Given the description of an element on the screen output the (x, y) to click on. 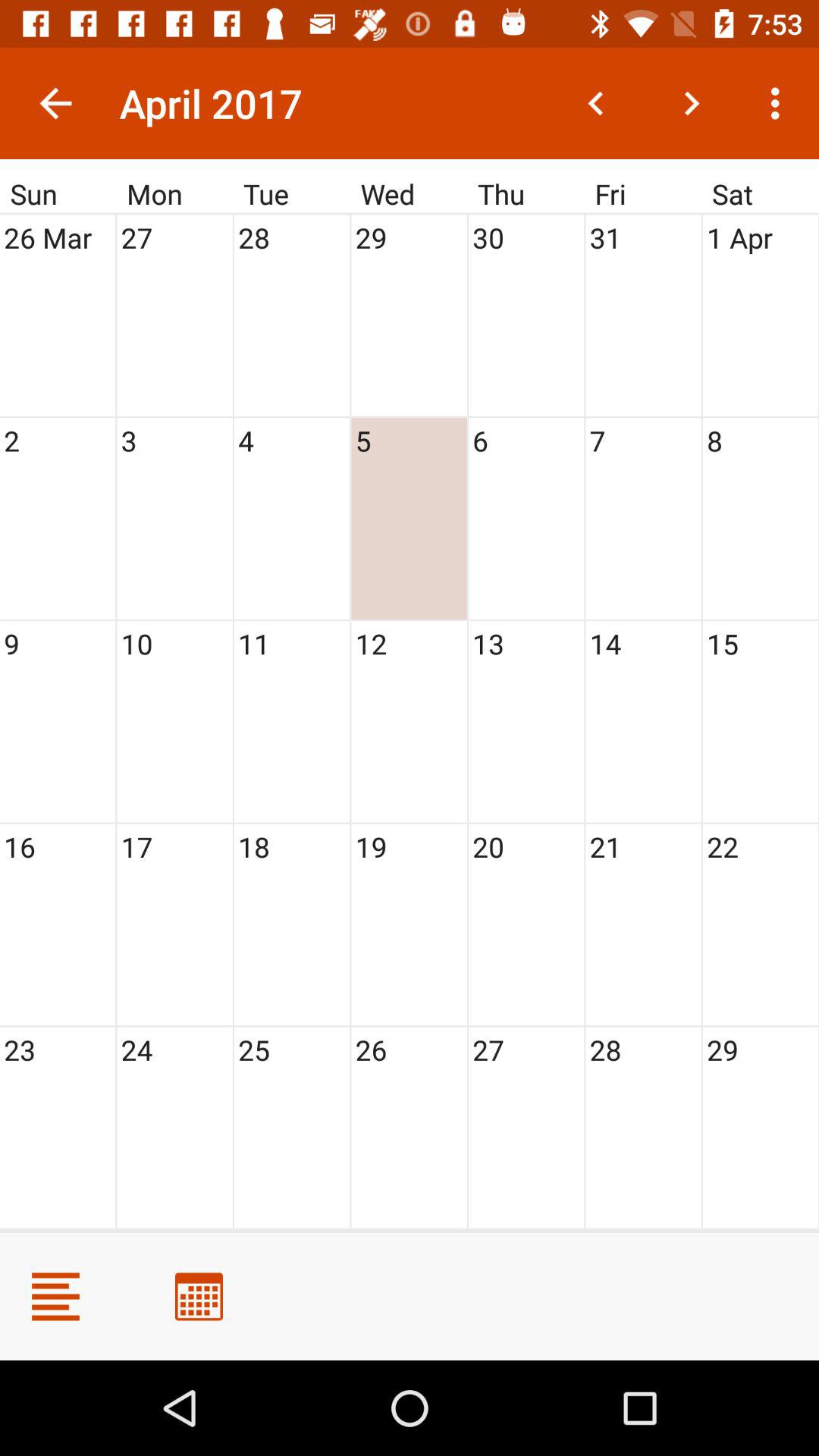
calendar option (198, 1296)
